Given the description of an element on the screen output the (x, y) to click on. 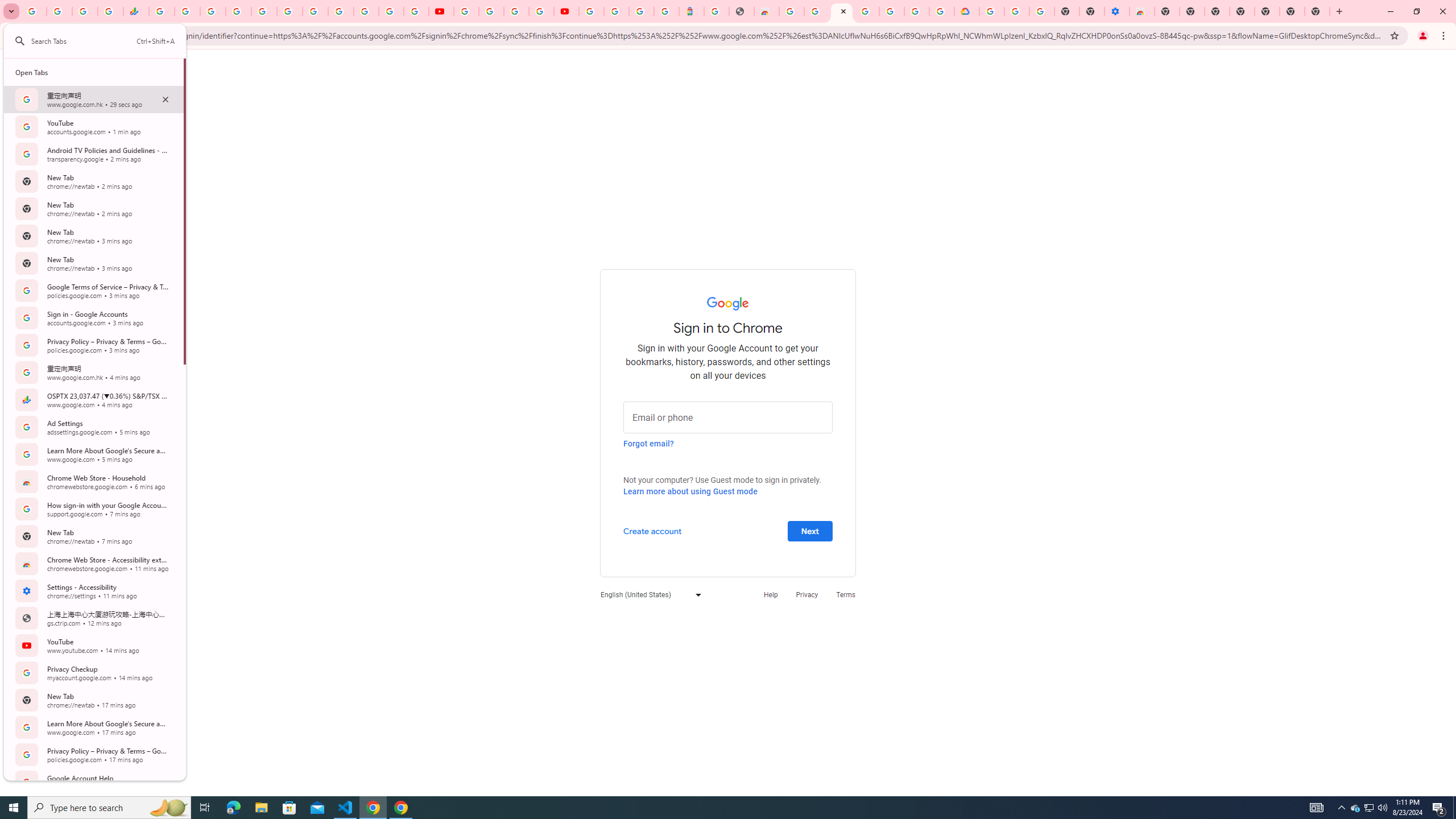
New Tab newtab 7 mins ago Open Tab (93, 536)
Privacy (806, 594)
Search Tabs Ctrl+Shift+A Found 60 Tabs (102, 40)
New Tab (1317, 11)
Content Creator Programs & Opportunities - YouTube Creators (565, 11)
Help (770, 594)
Atour Hotel - Google hotels (691, 11)
Sign in - Google Accounts (365, 11)
